Given the description of an element on the screen output the (x, y) to click on. 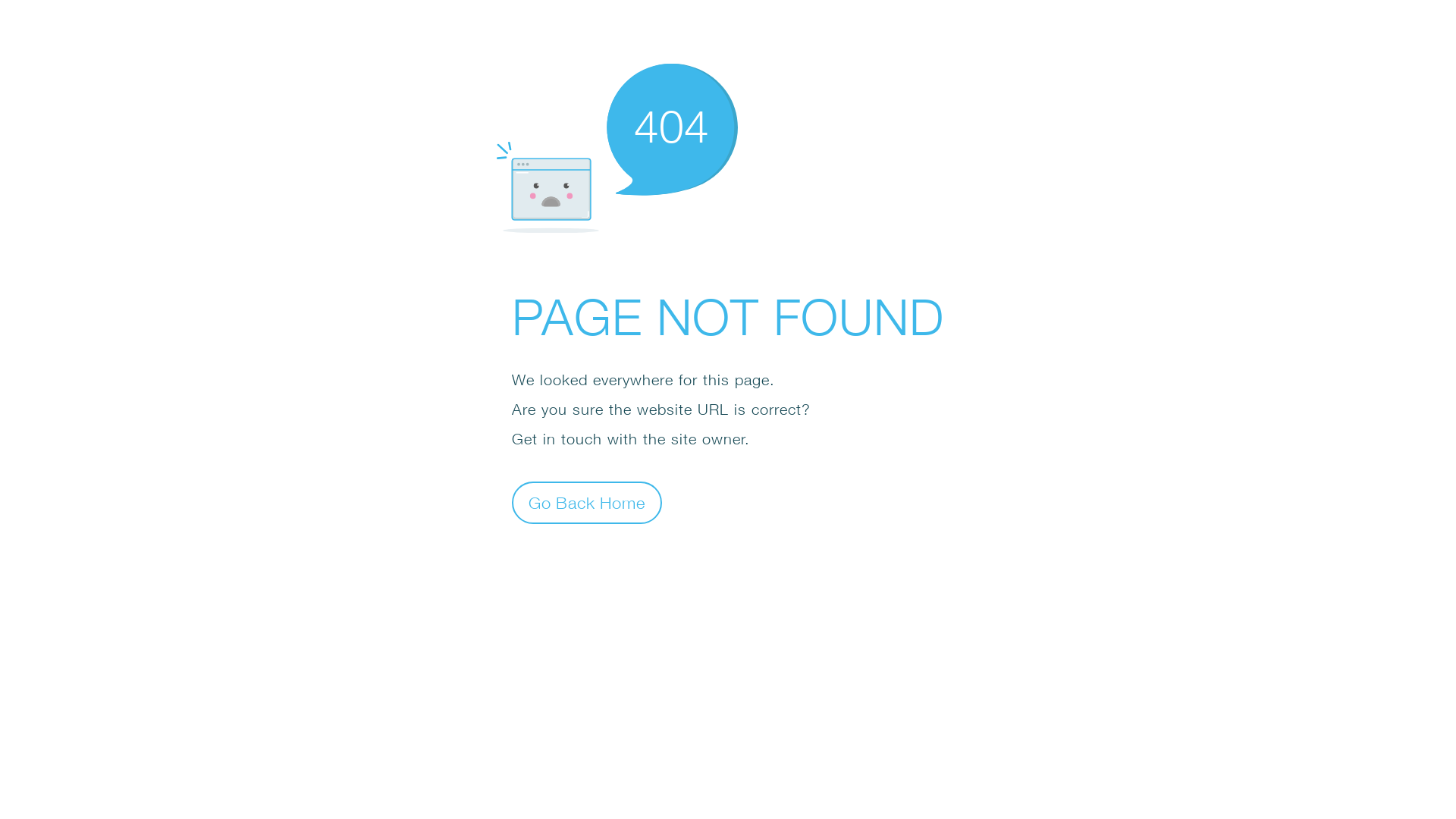
Go Back Home Element type: text (586, 502)
